Given the description of an element on the screen output the (x, y) to click on. 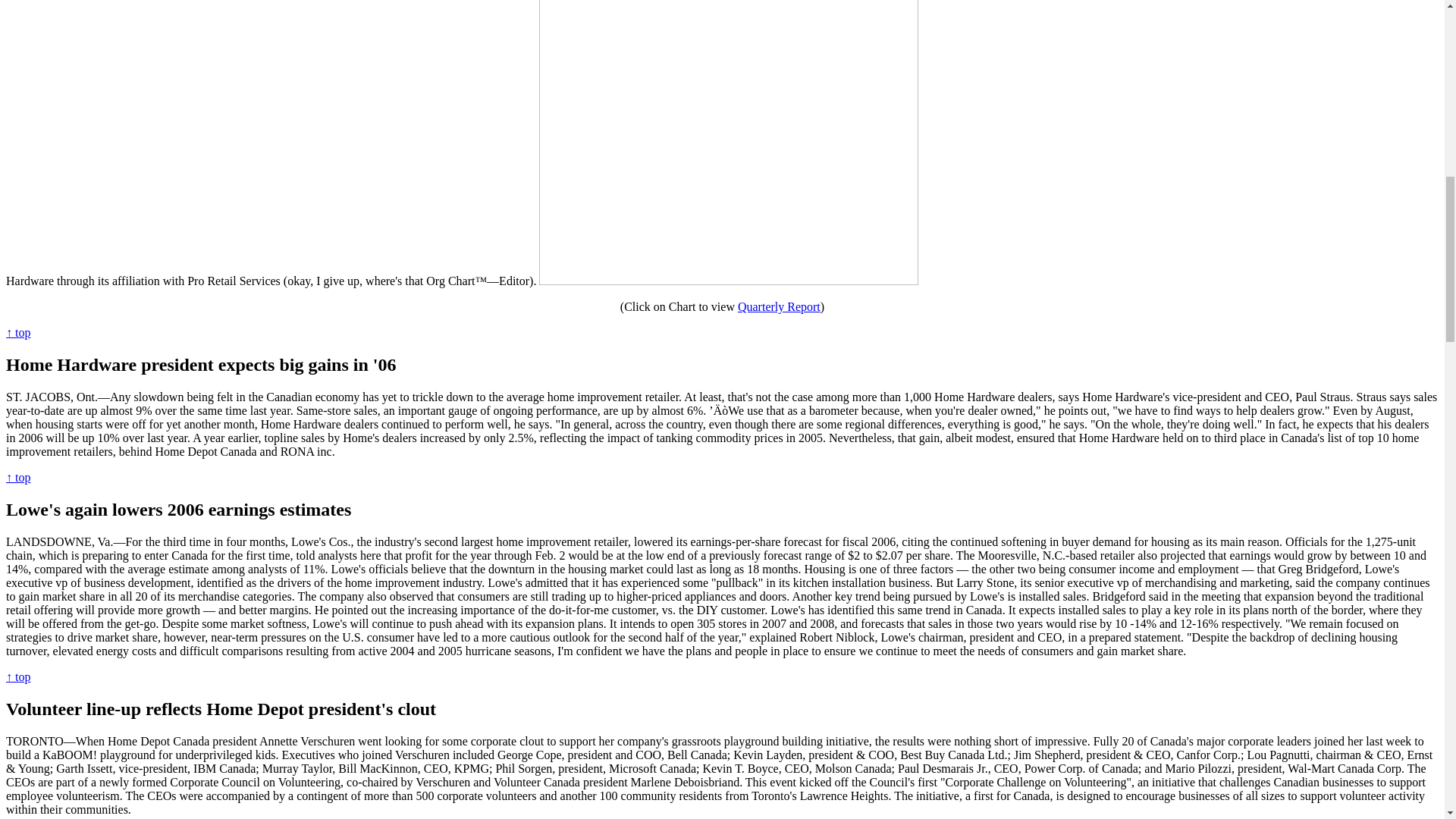
Quarterly Report (779, 306)
return to top (17, 477)
return to top (17, 332)
return to top (17, 676)
